Given the description of an element on the screen output the (x, y) to click on. 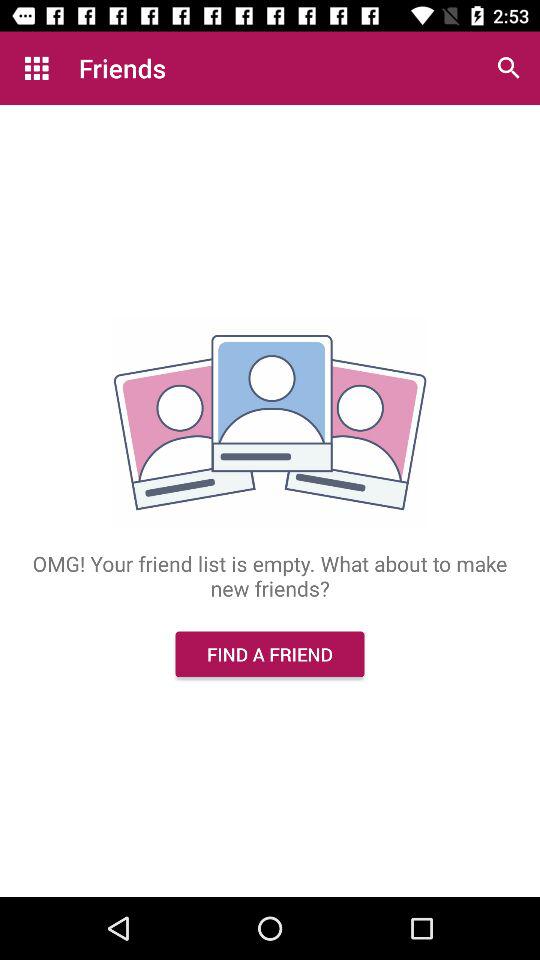
press the find a friend icon (269, 654)
